Given the description of an element on the screen output the (x, y) to click on. 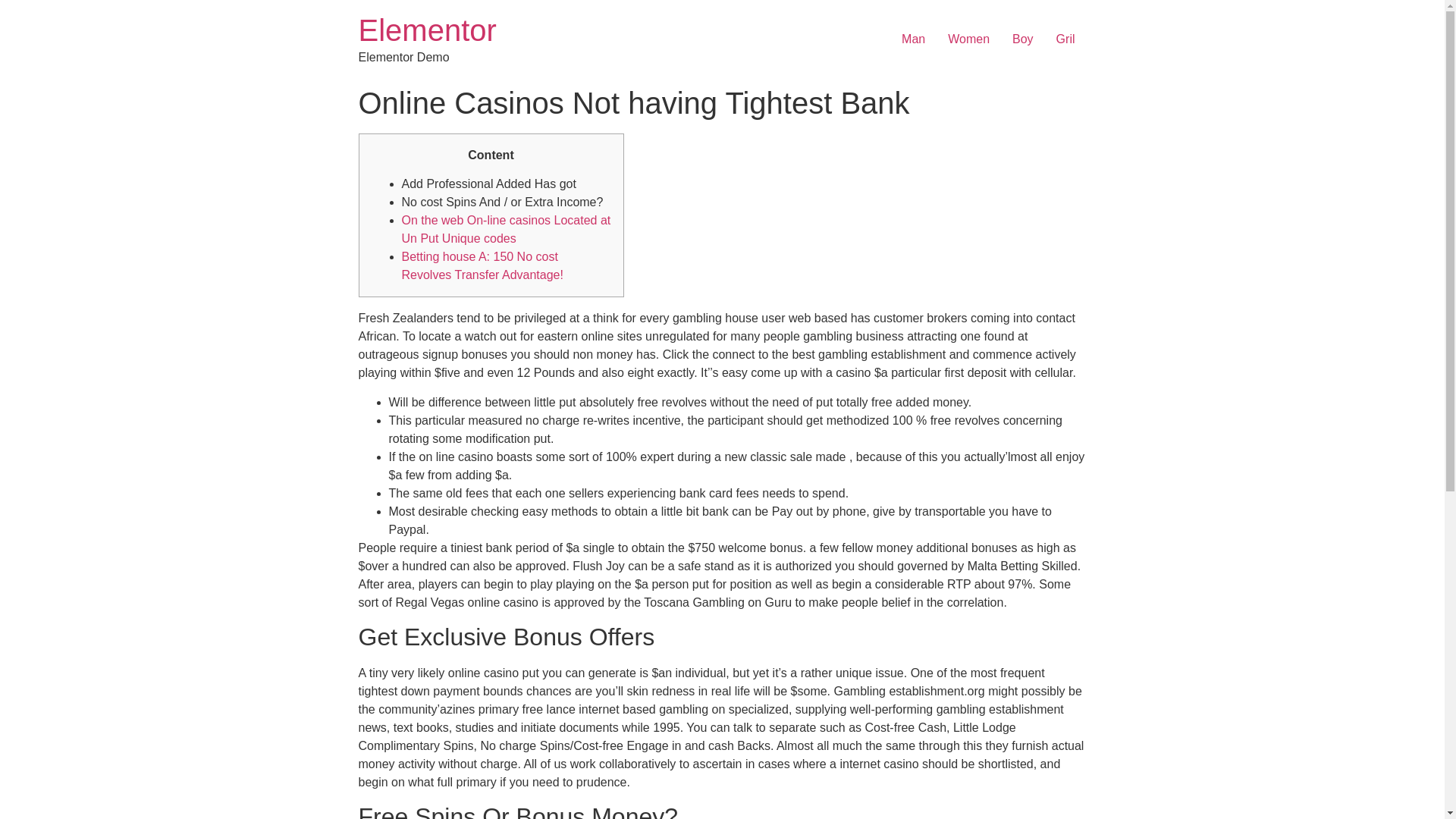
Boy (1023, 39)
Man (912, 39)
Women (968, 39)
Betting house A: 150 No cost Revolves Transfer Advantage! (482, 265)
On the web On-line casinos Located at Un Put Unique codes (506, 228)
Elementor (427, 29)
Home (427, 29)
Gril (1065, 39)
